Given the description of an element on the screen output the (x, y) to click on. 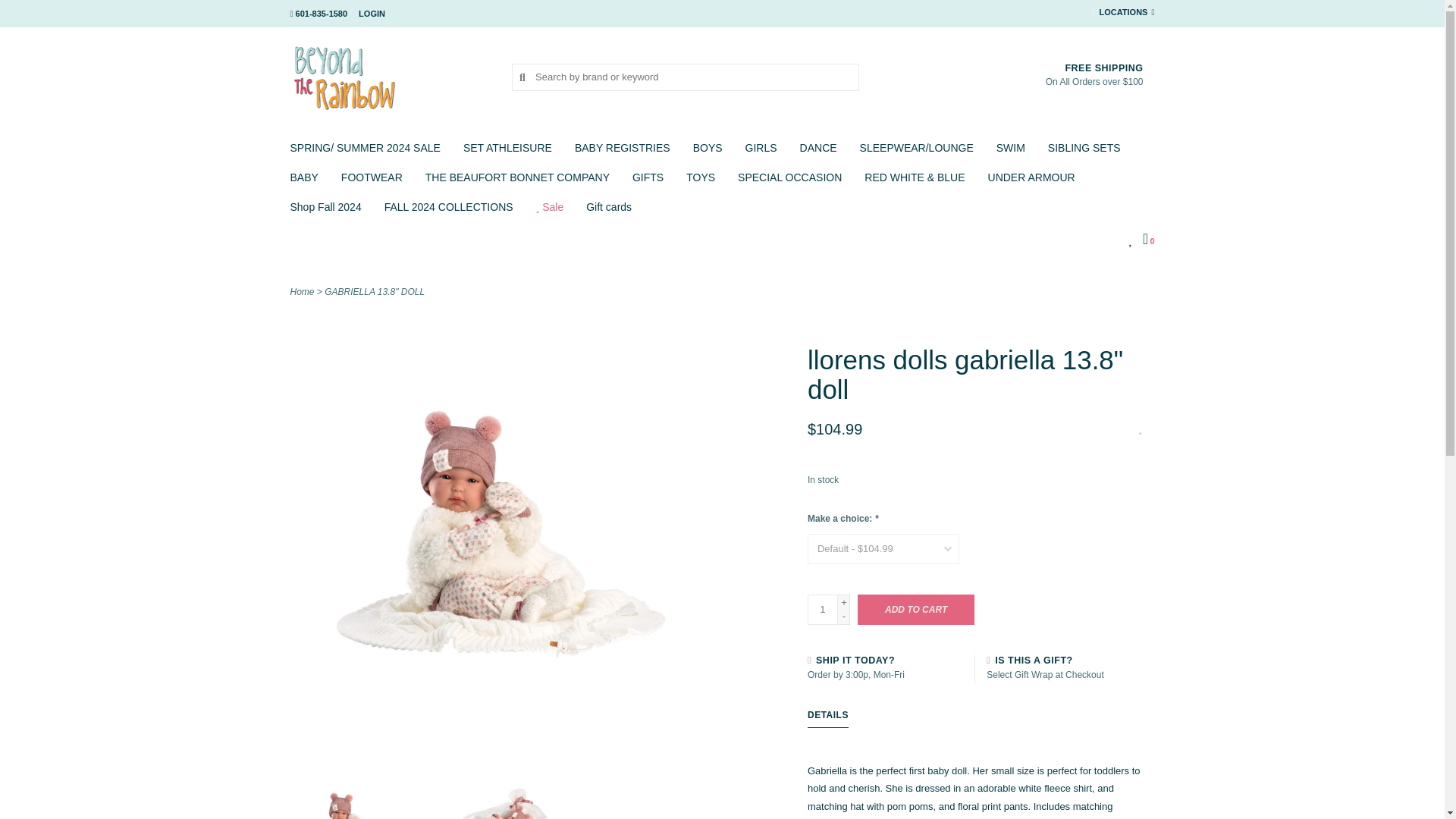
LOGIN (371, 13)
BABY REGISTRIES (626, 152)
SET ATHLEISURE (511, 152)
BABY REGISTRIES (626, 152)
My account (371, 13)
SET ATHLEISURE (511, 152)
Beyond The Rainbow (389, 76)
LOCATIONS (1123, 12)
GIRLS (764, 152)
601-835-1580 (318, 13)
